Given the description of an element on the screen output the (x, y) to click on. 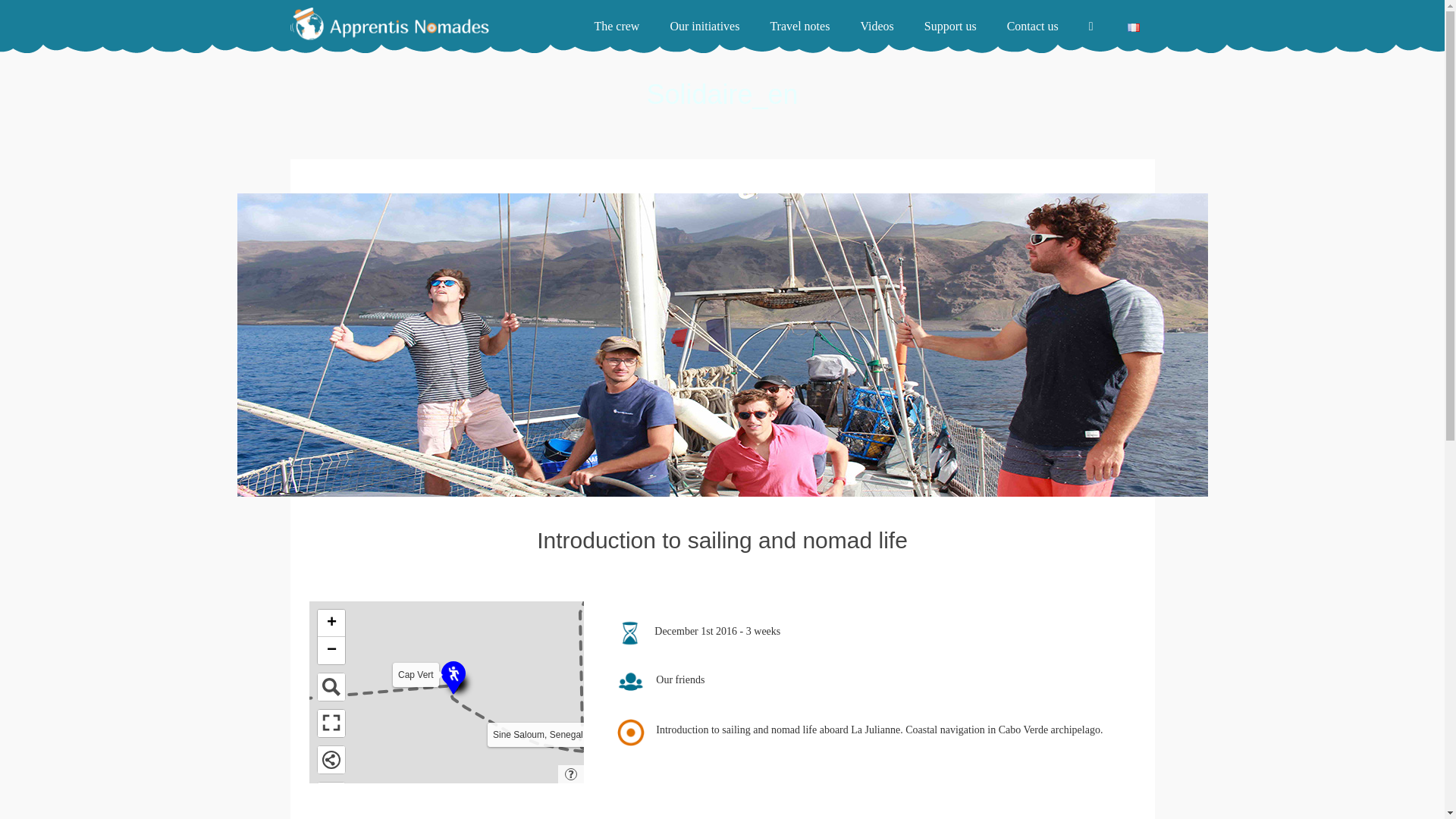
The crew (615, 26)
Contact us (1032, 26)
Our initiatives (703, 26)
Support us (949, 26)
Travel notes (799, 26)
Videos (876, 26)
